Given the description of an element on the screen output the (x, y) to click on. 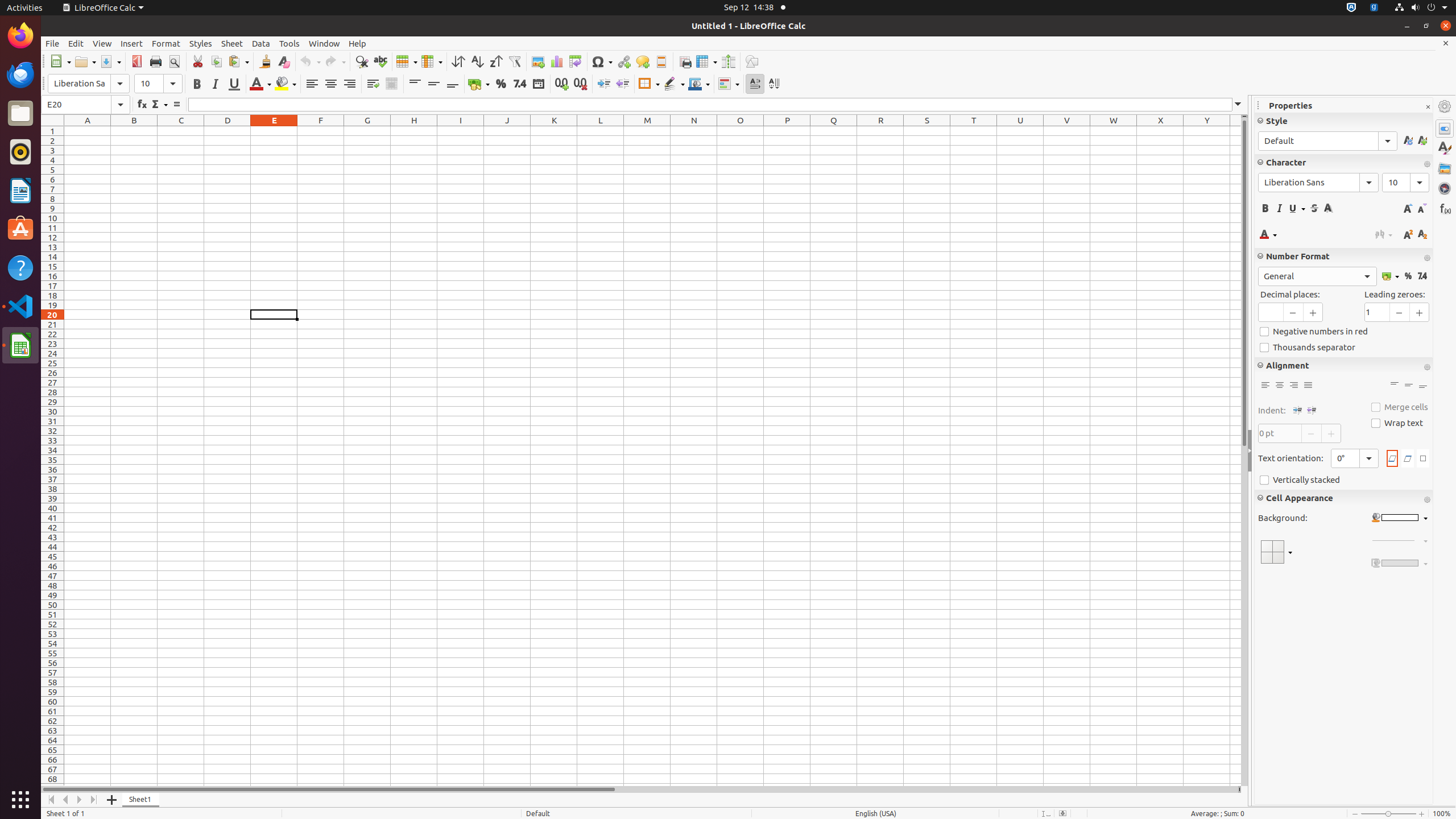
Properties Element type: radio-button (1444, 128)
Navigator Element type: radio-button (1444, 188)
Insert Element type: menu (131, 43)
Font Size Element type: combo-box (158, 83)
Freeze Rows and Columns Element type: push-button (705, 61)
